Given the description of an element on the screen output the (x, y) to click on. 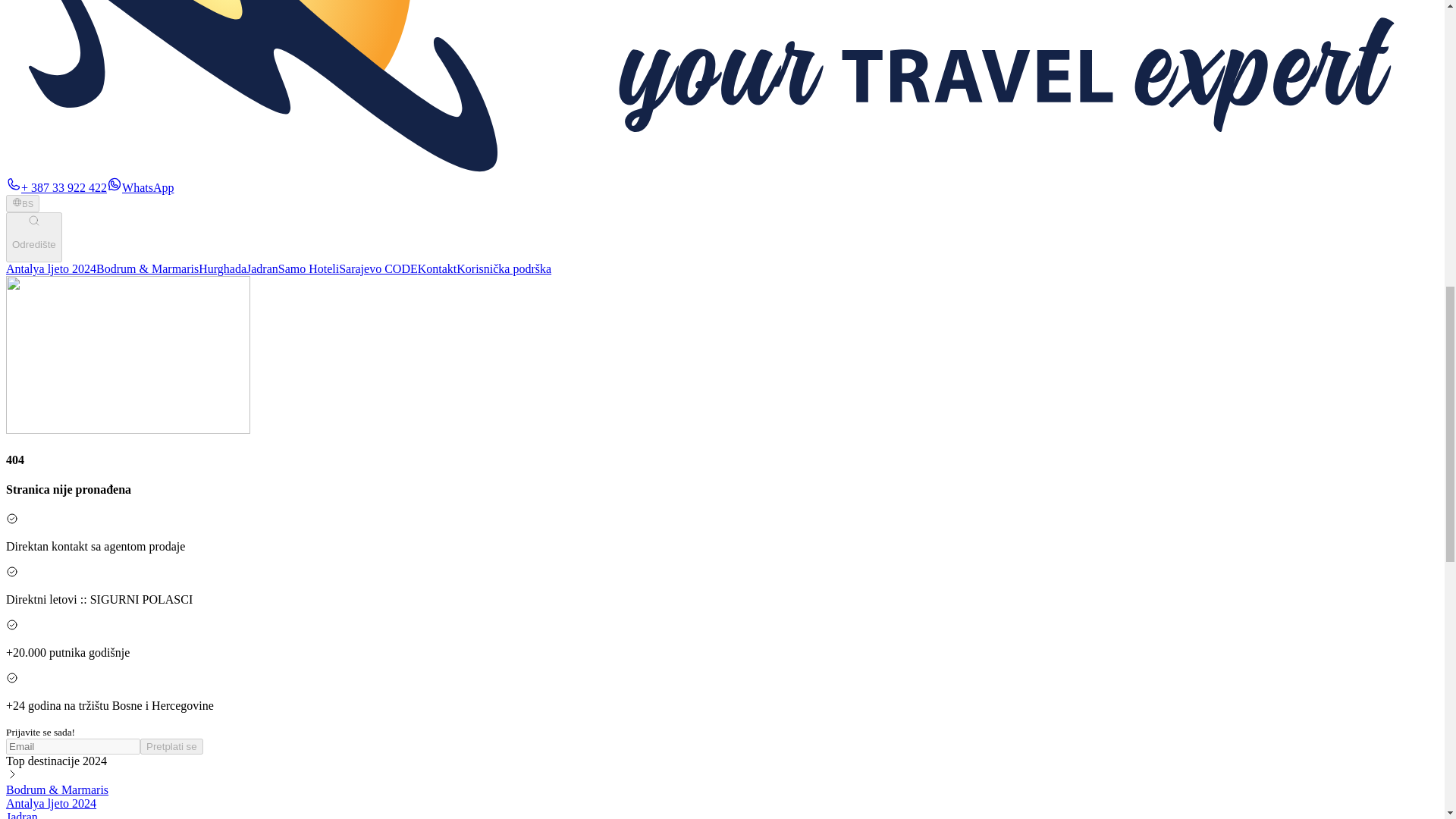
Pretplati se (171, 746)
Jadran (21, 814)
WhatsApp (139, 187)
Antalya ljeto 2024 (50, 802)
Kontakt (437, 268)
Jadran (262, 268)
Samo Hoteli (308, 268)
BS (22, 202)
Sarajevo CODE (378, 268)
Hurghada (222, 268)
